Given the description of an element on the screen output the (x, y) to click on. 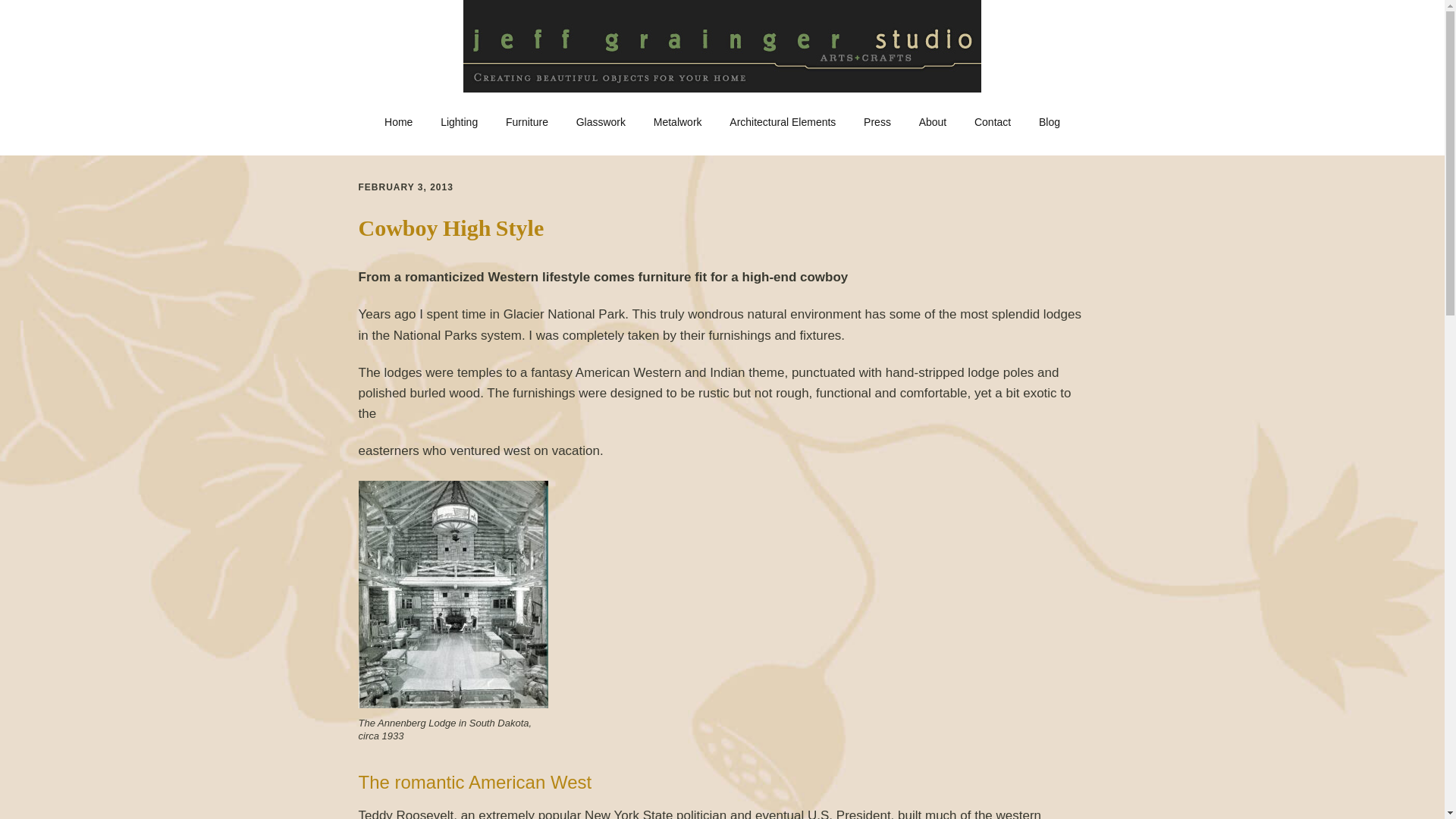
Lighting (458, 122)
About (933, 122)
Contact (992, 122)
Architectural Elements (782, 122)
Press (876, 122)
Furniture (526, 122)
Blog (1048, 122)
Metalwork (678, 122)
Home (398, 122)
Glasswork (600, 122)
